Given the description of an element on the screen output the (x, y) to click on. 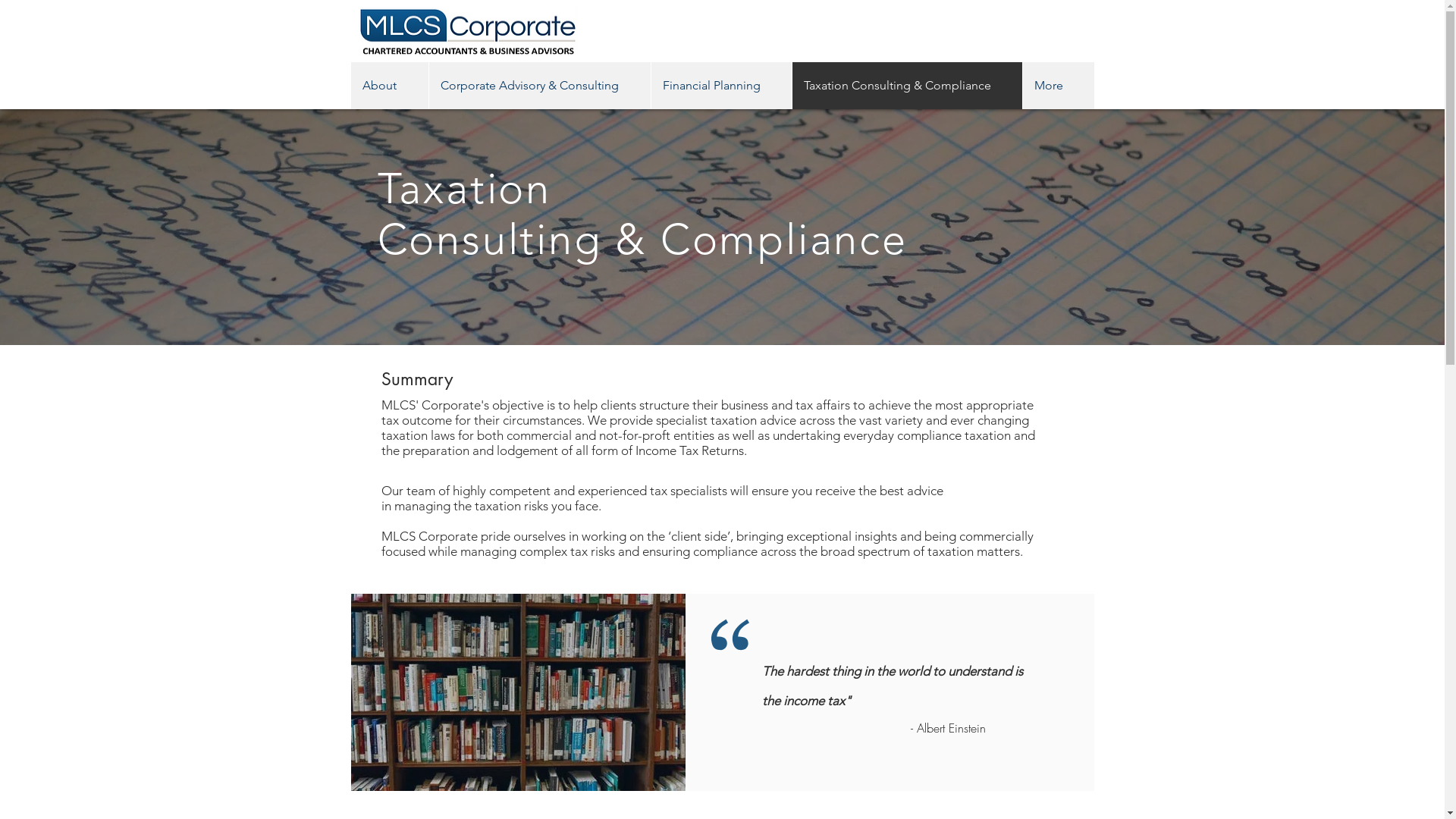
Financial Planning Element type: text (720, 85)
Corporate Advisory & Consulting Element type: text (538, 85)
Taxation Consulting & Compliance Element type: text (906, 85)
